Given the description of an element on the screen output the (x, y) to click on. 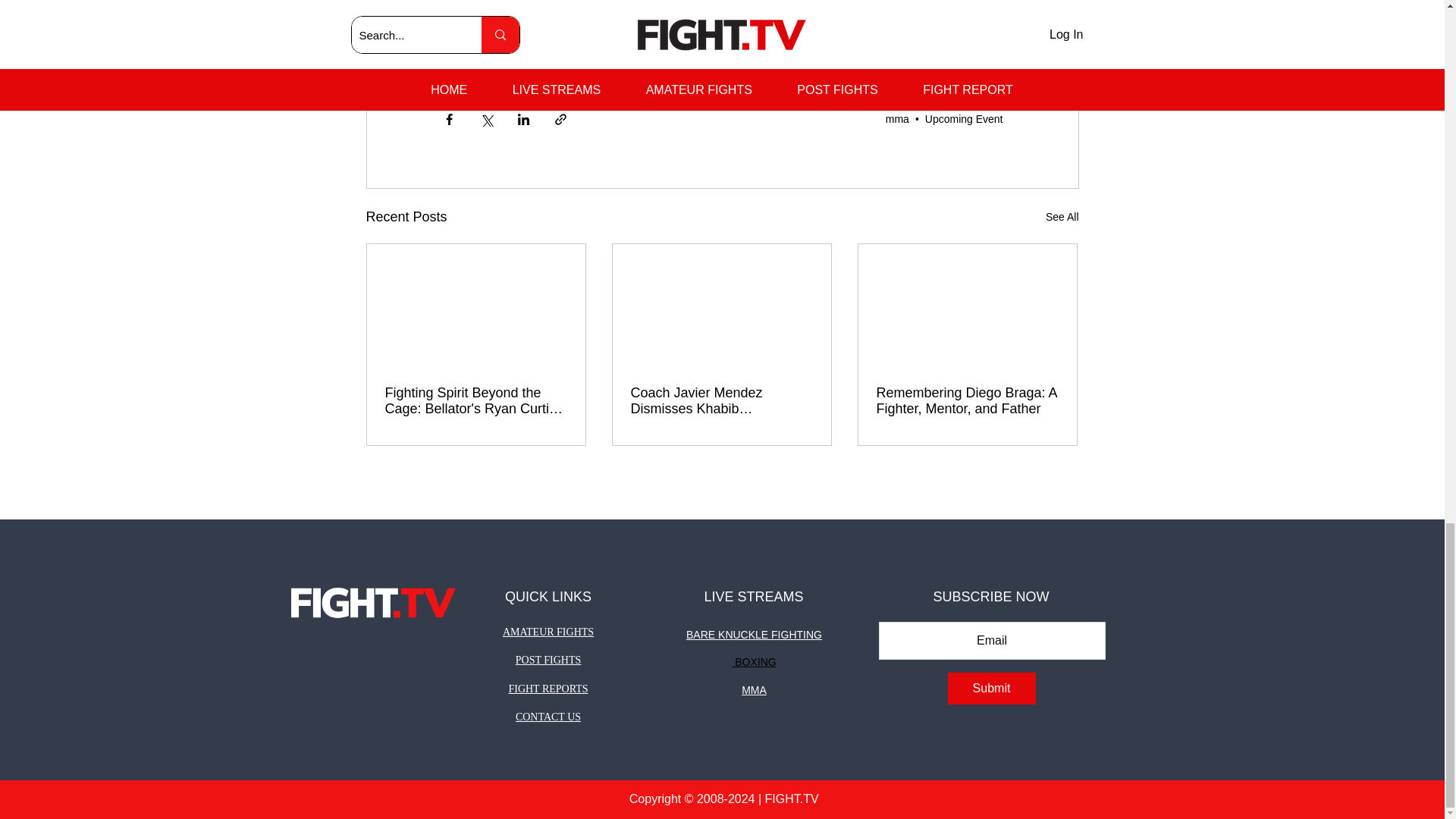
Saudi Arabia (580, 33)
Jairzinho Rozenstruik (885, 33)
Shamil Gaziev (485, 61)
Alex Perez (783, 33)
UFC (513, 33)
mma (896, 119)
Muhammad Mokaev (683, 33)
MMA (463, 33)
